Given the description of an element on the screen output the (x, y) to click on. 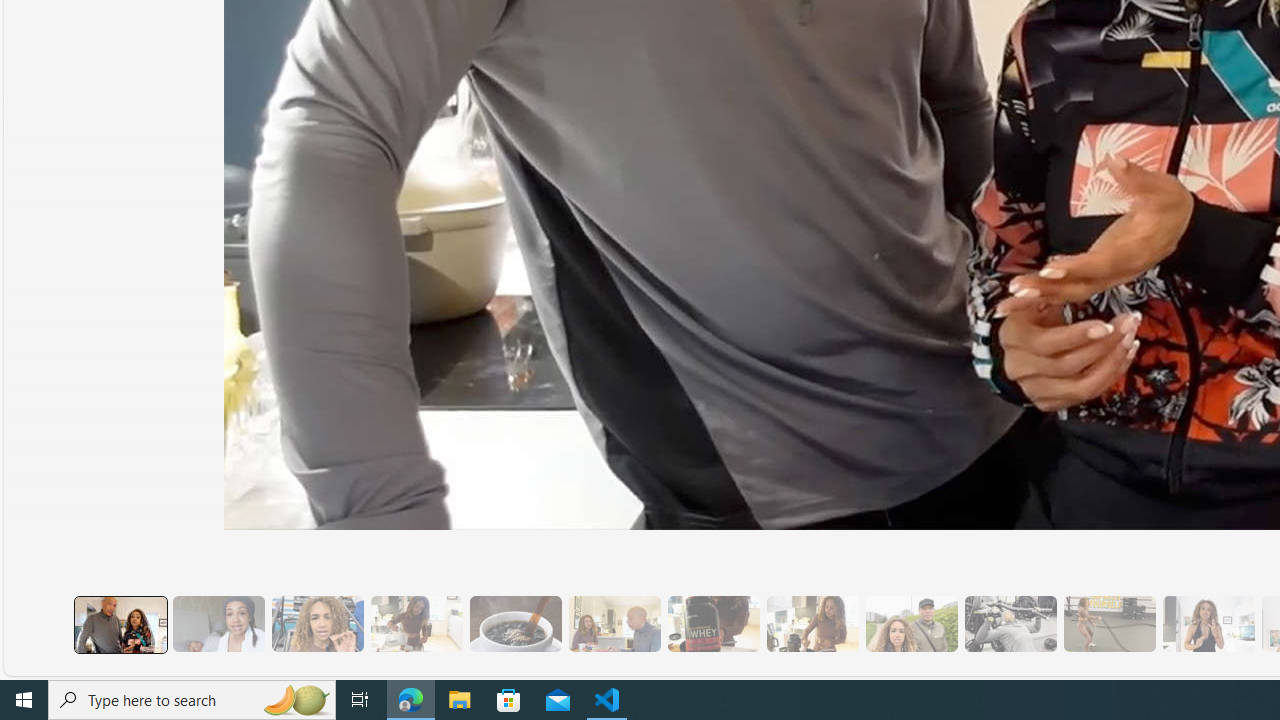
10 Then, They Do HIIT Cardio (1108, 624)
11 They Eat More Protein for Breakfast (1208, 624)
8 Be Mindful of Coffee (514, 624)
8 They Walk to the Gym (911, 624)
9 They Do Bench Exercises (1010, 624)
11 They Eat More Protein for Breakfast (1208, 624)
8 Be Mindful of Coffee (514, 624)
6 Since Eating More Protein Her Training Has Improved (713, 624)
2 They Use Protein Powder for Flavor (317, 624)
5 She Eats Less Than Her Husband (614, 624)
9 They Do Bench Exercises (1010, 624)
3 They Drink Lemon Tea (416, 624)
10 Then, They Do HIIT Cardio (1108, 624)
